Given the description of an element on the screen output the (x, y) to click on. 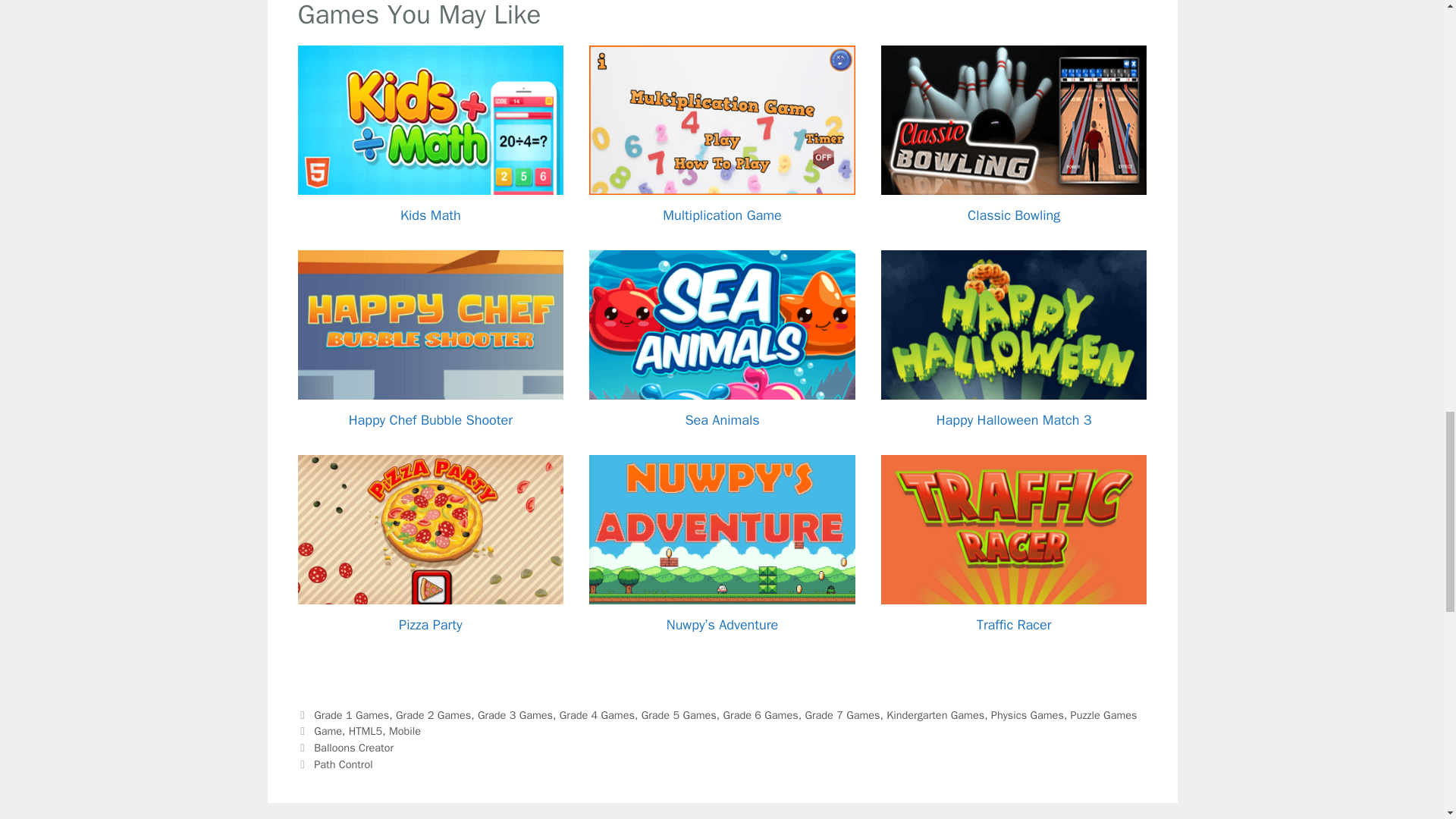
Multiplication Game (721, 215)
Kids Math (430, 215)
Sea Animals (721, 419)
Pizza Party (429, 624)
Classic Bowling (1013, 215)
Happy Halloween Match 3 (1014, 419)
Happy Chef Bubble Shooter (430, 419)
Traffic Racer (1013, 624)
Grade 1 Games (351, 714)
